Given the description of an element on the screen output the (x, y) to click on. 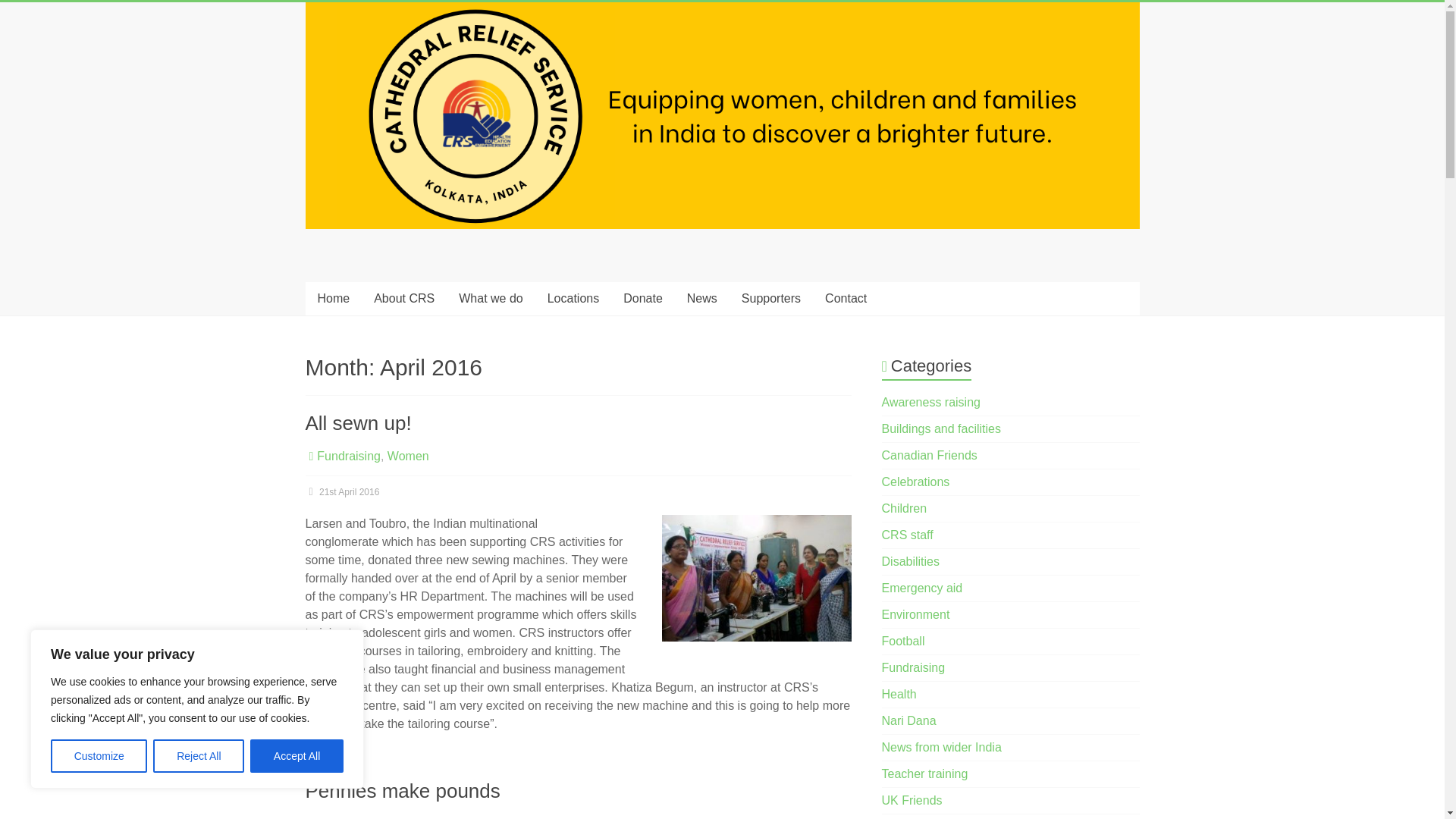
Reject All (198, 756)
Cathedral Relief Service (363, 300)
About CRS (403, 298)
Customize (98, 756)
8:33 pm (341, 491)
Cathedral Relief Service (363, 300)
What we do (490, 298)
Pennies make pounds (401, 790)
Accept All (296, 756)
All sewn up! (357, 422)
Locations (573, 298)
Home (332, 298)
